Given the description of an element on the screen output the (x, y) to click on. 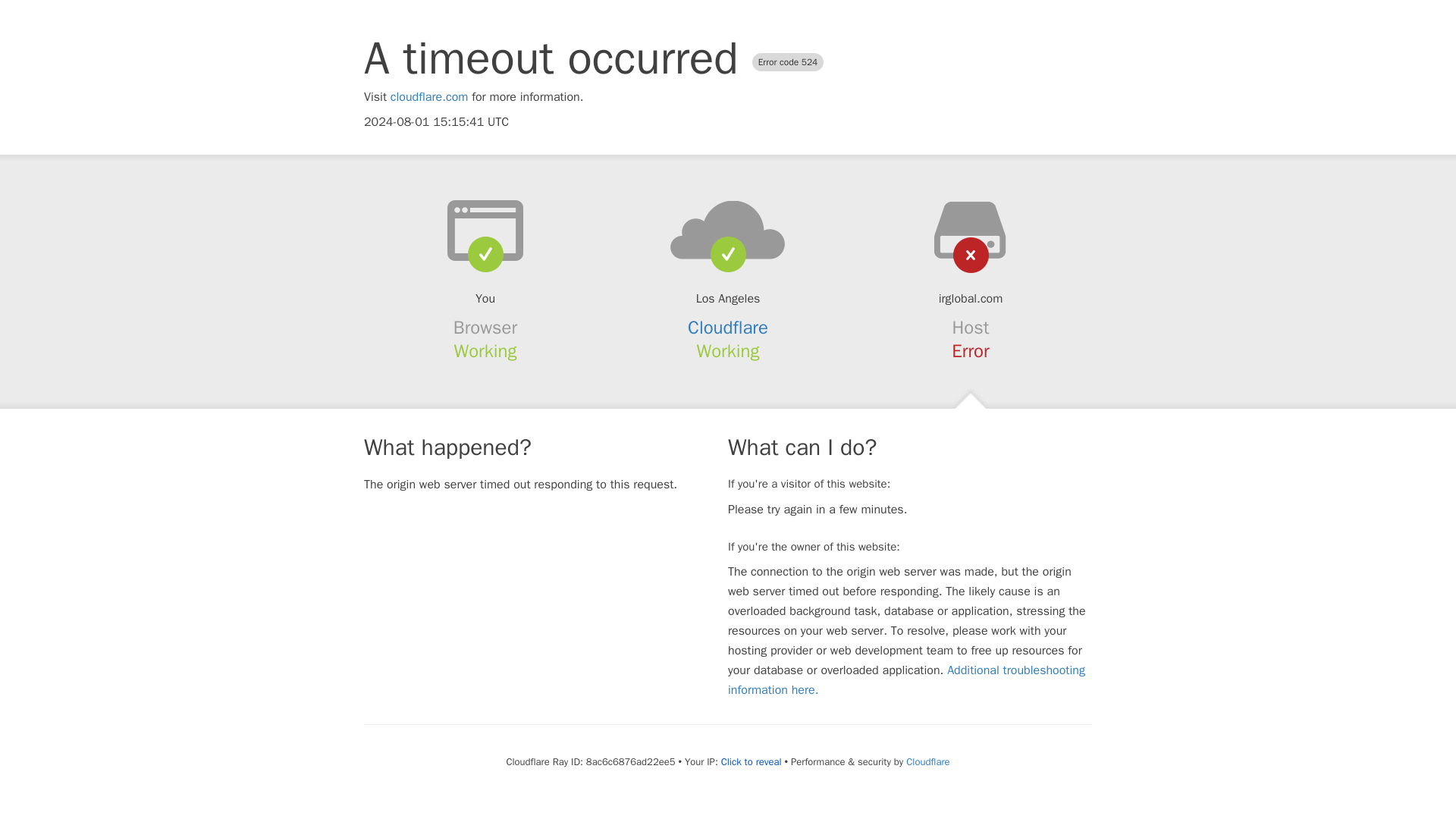
cloudflare.com (429, 96)
Click to reveal (750, 762)
Additional troubleshooting information here. (906, 679)
Cloudflare (927, 761)
Cloudflare (727, 327)
